Given the description of an element on the screen output the (x, y) to click on. 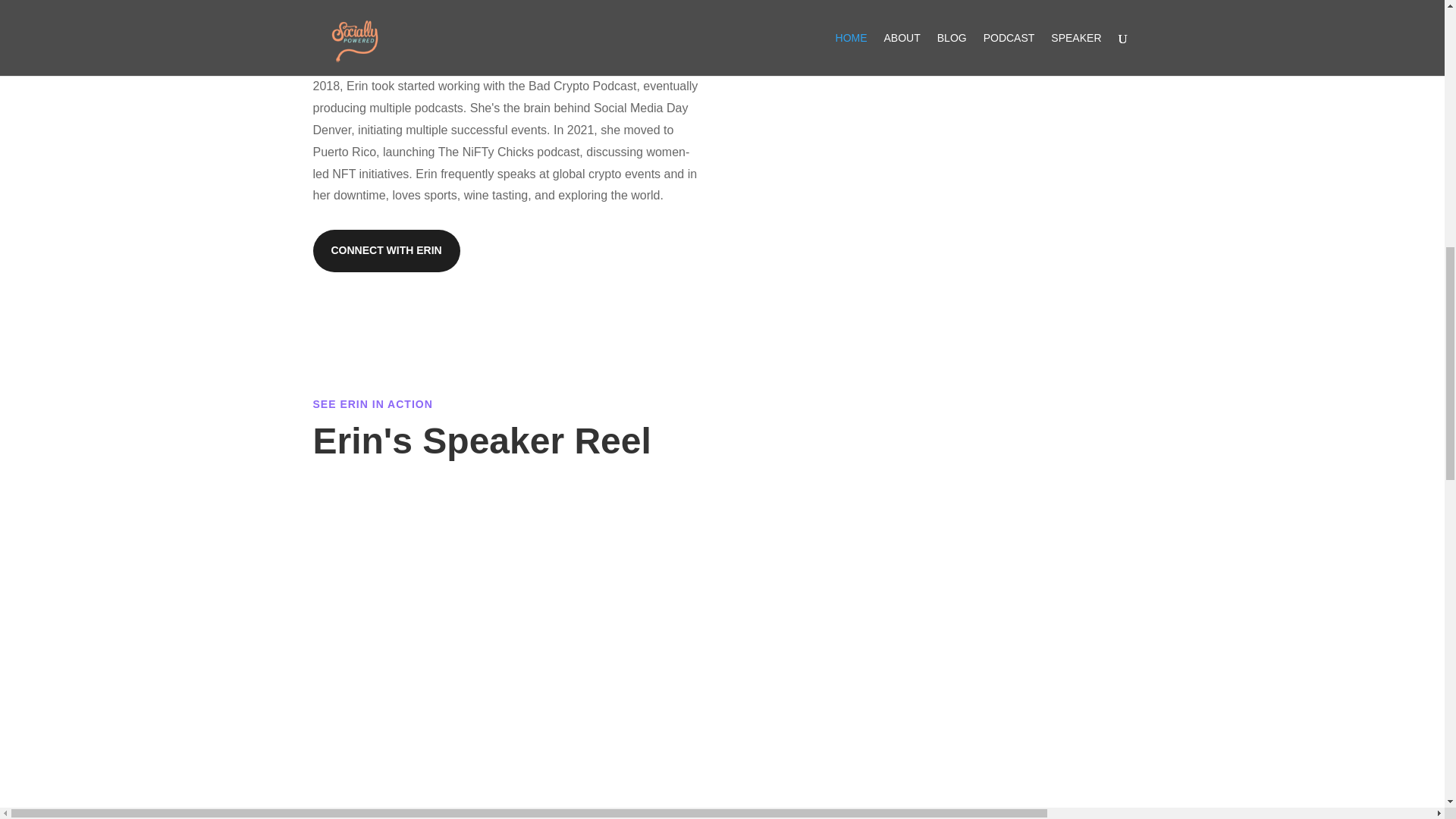
Screen Shot 2023-08-21 at 16.17.29 (853, 115)
CONNECT WITH ERIN (386, 250)
